Given the description of an element on the screen output the (x, y) to click on. 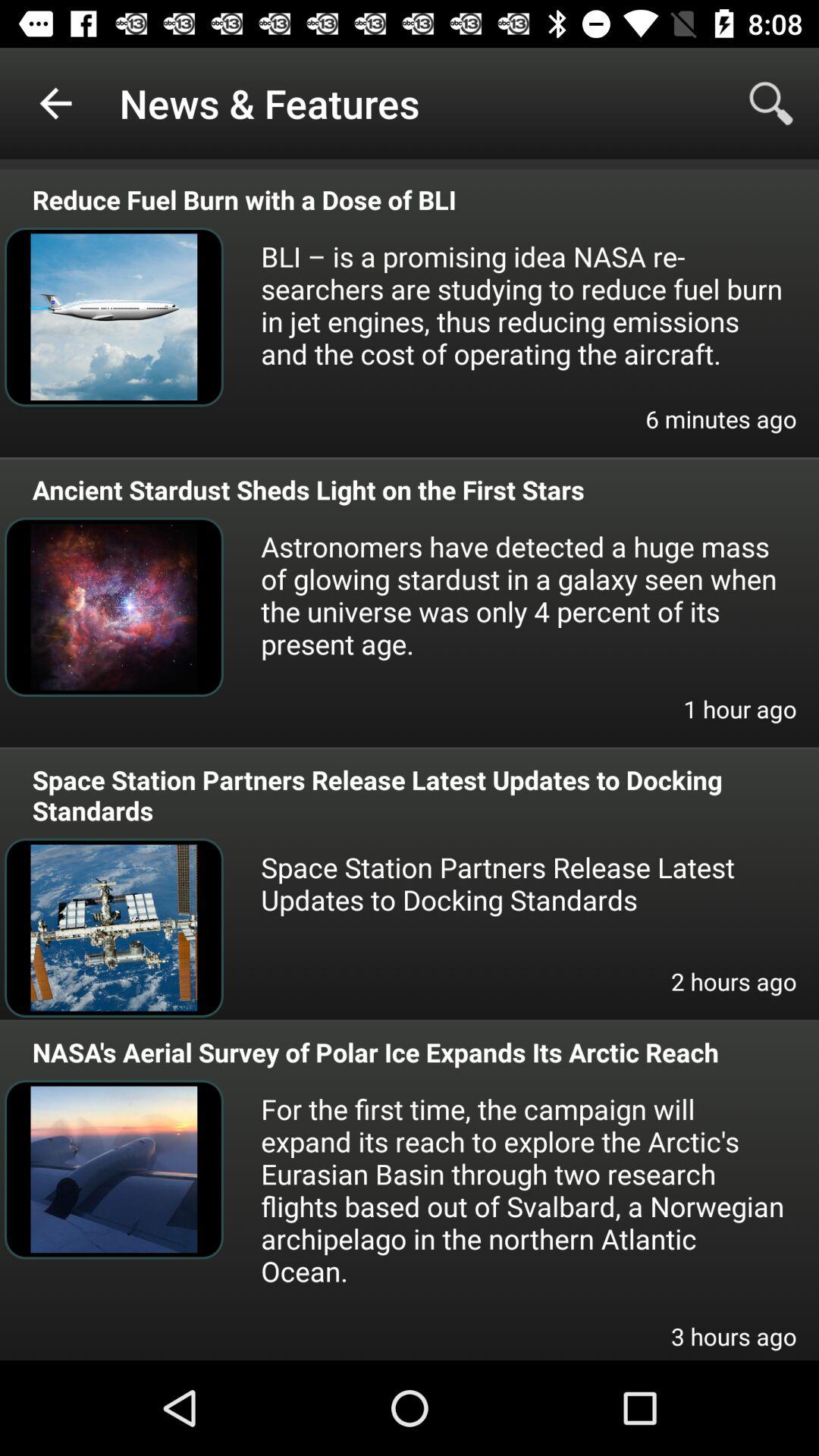
launch the item above space station partners icon (739, 718)
